Given the description of an element on the screen output the (x, y) to click on. 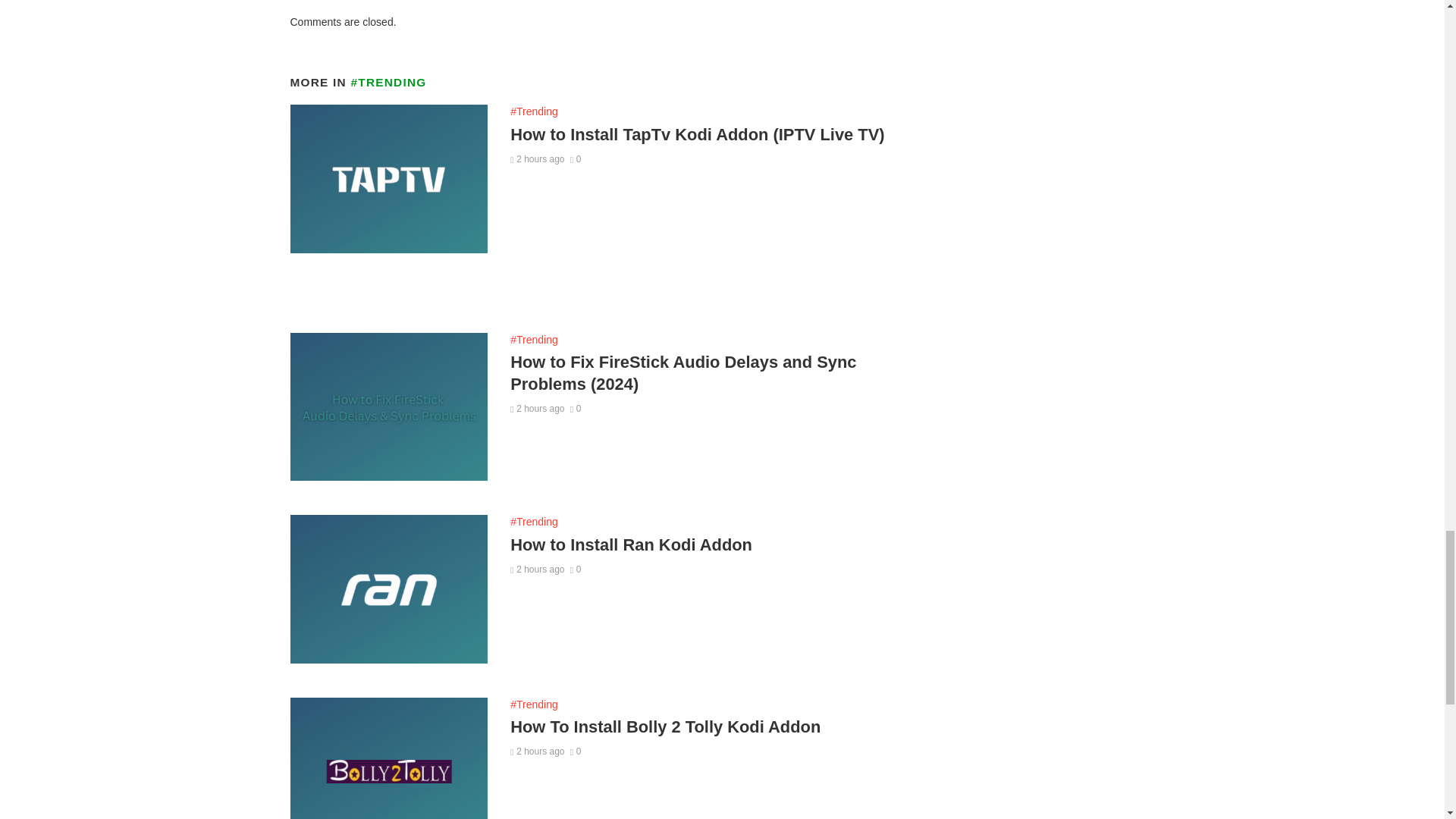
July 18, 2024 at 1:43 pm (537, 158)
0 Comments (575, 158)
